Given the description of an element on the screen output the (x, y) to click on. 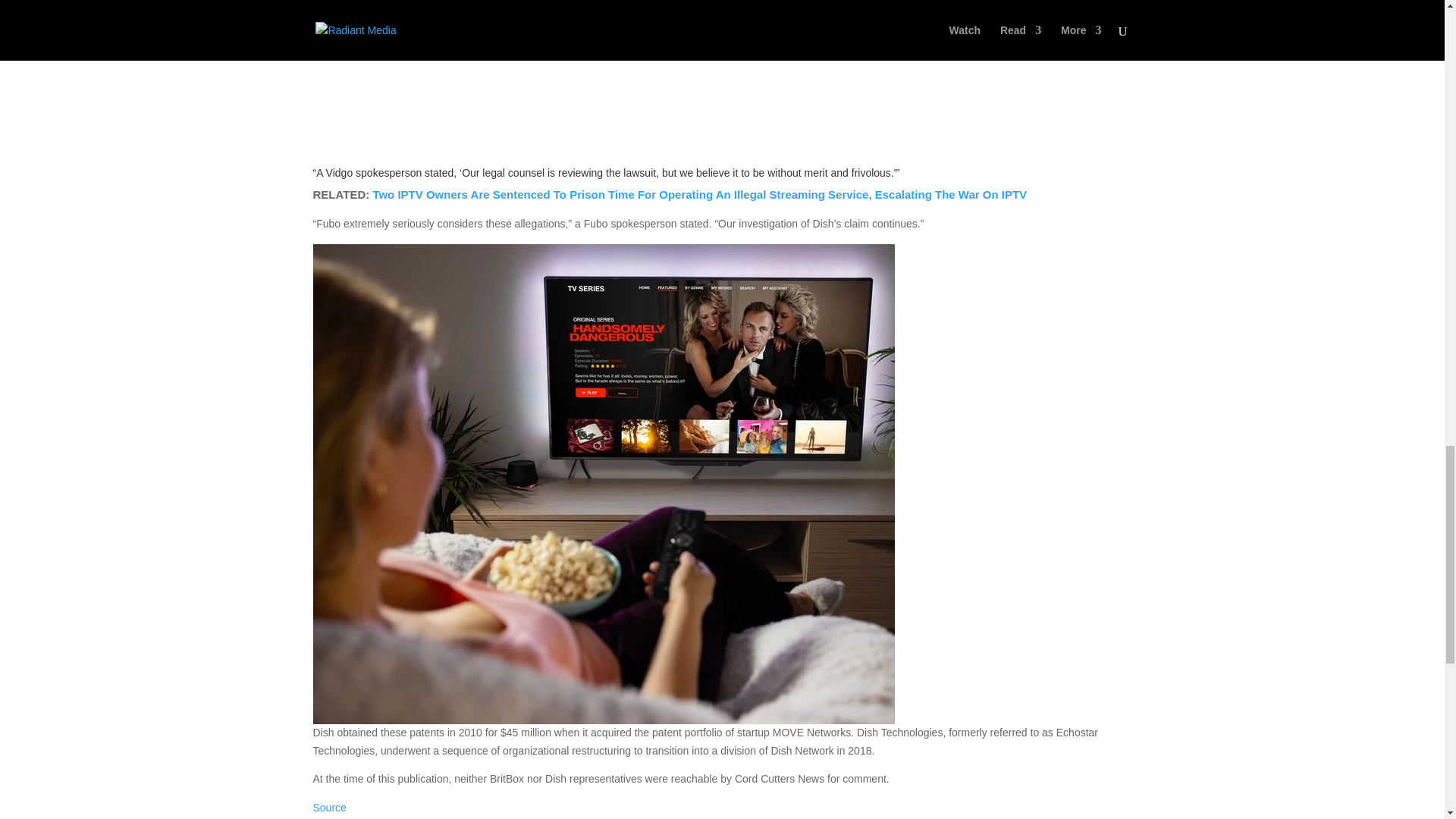
Source (329, 807)
